Given the description of an element on the screen output the (x, y) to click on. 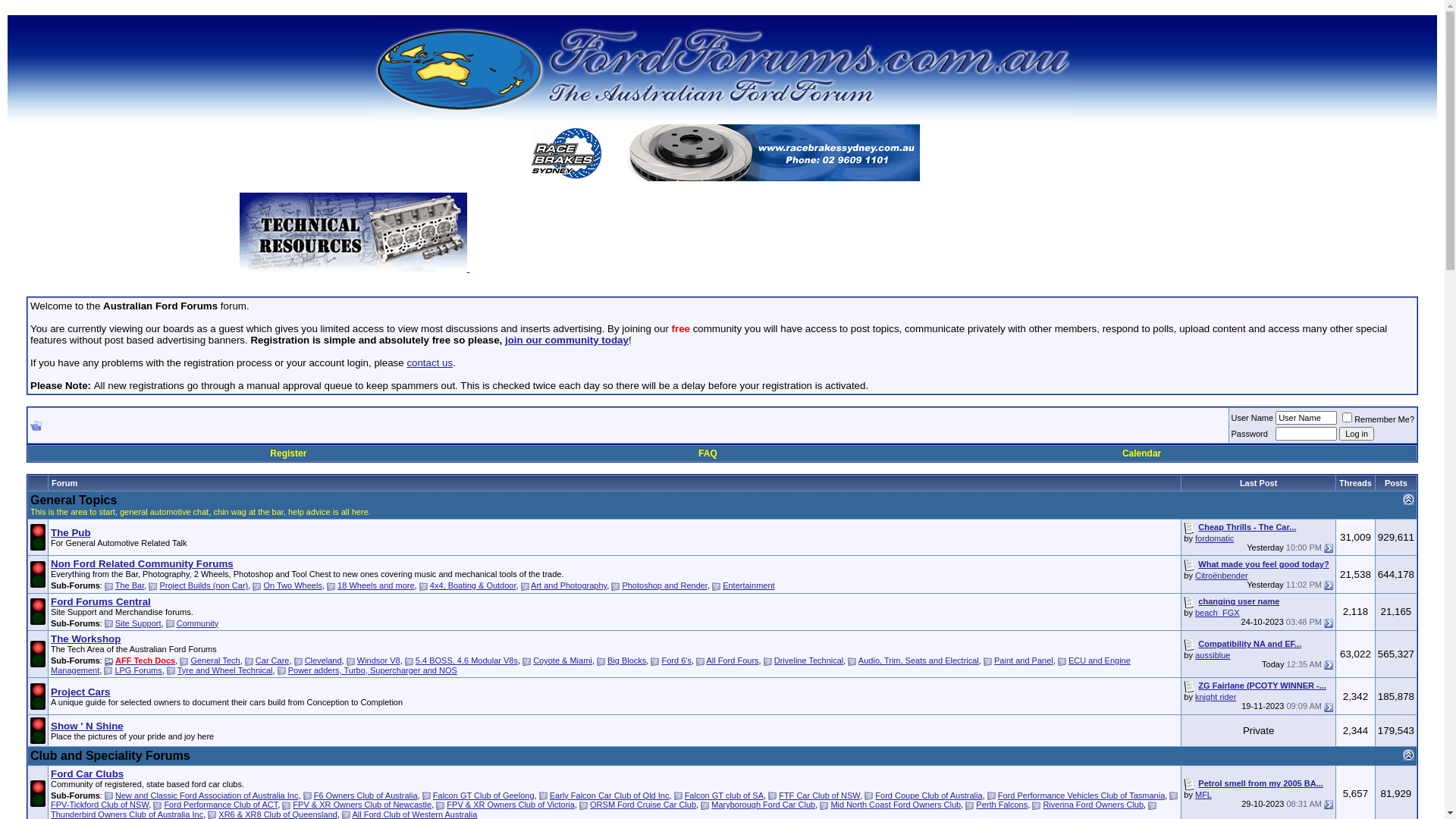
Show ' N Shine Element type: text (86, 725)
LPG Forums Element type: text (137, 669)
F6 Owners Club of Australia Element type: text (365, 795)
Ford 6's Element type: text (676, 660)
5.4 BOSS, 4.6 Modular V8s Element type: text (466, 660)
RBS Element type: hover (721, 152)
Perth Falcons Element type: text (1001, 804)
Coyote & Miami Element type: text (562, 660)
Big Blocks Element type: text (626, 660)
ECU and Engine Management Element type: text (590, 664)
Tyre and Wheel Technical Element type: text (225, 669)
Falcon GT Club of Geelong Element type: text (483, 795)
fordomatic Element type: text (1214, 537)
AFF Tech Docs Element type: text (145, 660)
Go to last post Element type: hover (1328, 707)
Advertisement Element type: hover (836, 237)
Entertainment Element type: text (748, 584)
Early Falcon Car Club of Qld Inc Element type: text (609, 795)
Project Cars Element type: text (80, 691)
Go to last post Element type: hover (1328, 584)
FPV & XR Owners Club of Newcastle Element type: text (361, 804)
FAQ Element type: text (707, 453)
18 Wheels and more Element type: text (375, 584)
Ford Car Clubs Element type: text (86, 773)
The Bar Element type: text (129, 584)
Driveline Technical Element type: text (809, 660)
Go to last post Element type: hover (1328, 664)
Photoshop and Render Element type: text (664, 584)
Art and Photography Element type: text (568, 584)
Register Element type: text (287, 453)
On Two Wheels Element type: text (292, 584)
FPV & XR Owners Club of Victoria Element type: text (510, 804)
Go to last post Element type: hover (1328, 804)
Windsor V8 Element type: text (378, 660)
Car Care Element type: text (272, 660)
General Tech Element type: text (214, 660)
Power adders, Turbo, Supercharger and NOS Element type: text (372, 669)
aussiblue Element type: text (1212, 654)
Log in Element type: text (1356, 433)
beach_FGX Element type: text (1217, 612)
Riverina Ford Owners Club Element type: text (1092, 804)
The Pub Element type: text (70, 532)
join our community today Element type: text (566, 339)
Ford Forums Central Element type: text (100, 601)
Community Element type: text (197, 622)
The Workshop Element type: text (85, 638)
Maryborough Ford Car Club Element type: text (763, 804)
MFL Element type: text (1203, 794)
Ford Coupe Club of Australia Element type: text (928, 795)
Paint and Panel Element type: text (1023, 660)
Ford Performance Club of ACT Element type: text (220, 804)
Go to last post Element type: hover (1328, 547)
contact us Element type: text (429, 362)
ORSM Ford Cruise Car Club Element type: text (642, 804)
Cheap Thrills - The Car... Element type: text (1246, 526)
Go to last post Element type: hover (1328, 622)
Calendar Element type: text (1141, 453)
changing user name Element type: text (1238, 600)
Club and Speciality Forums Element type: text (110, 755)
Ford Performance Vehicles Club of Tasmania Element type: text (1081, 795)
Project Builds (non Car) Element type: text (203, 584)
Falcon GT club of SA Element type: text (723, 795)
knight rider Element type: text (1215, 696)
What made you feel good today? Element type: text (1263, 563)
Mid North Coast Ford Owners Club Element type: text (895, 804)
Non Ford Related Community Forums Element type: text (141, 563)
FPV-Tickford Club of NSW Element type: text (99, 804)
Site Support Element type: text (138, 622)
Petrol smell from my 2005 BA... Element type: text (1260, 782)
Cleveland Element type: text (323, 660)
FTF Car Club of NSW Element type: text (818, 795)
General Topics Element type: text (73, 499)
New and Classic Ford Association of Australia Inc Element type: text (206, 795)
4x4, Boating & Outdoor Element type: text (472, 584)
All Ford Fours Element type: text (732, 660)
Compatibility NA and EF... Element type: text (1249, 643)
Audio, Trim, Seats and Electrical Element type: text (918, 660)
ZG Fairlane (PCOTY WINNER -... Element type: text (1261, 685)
